Given the description of an element on the screen output the (x, y) to click on. 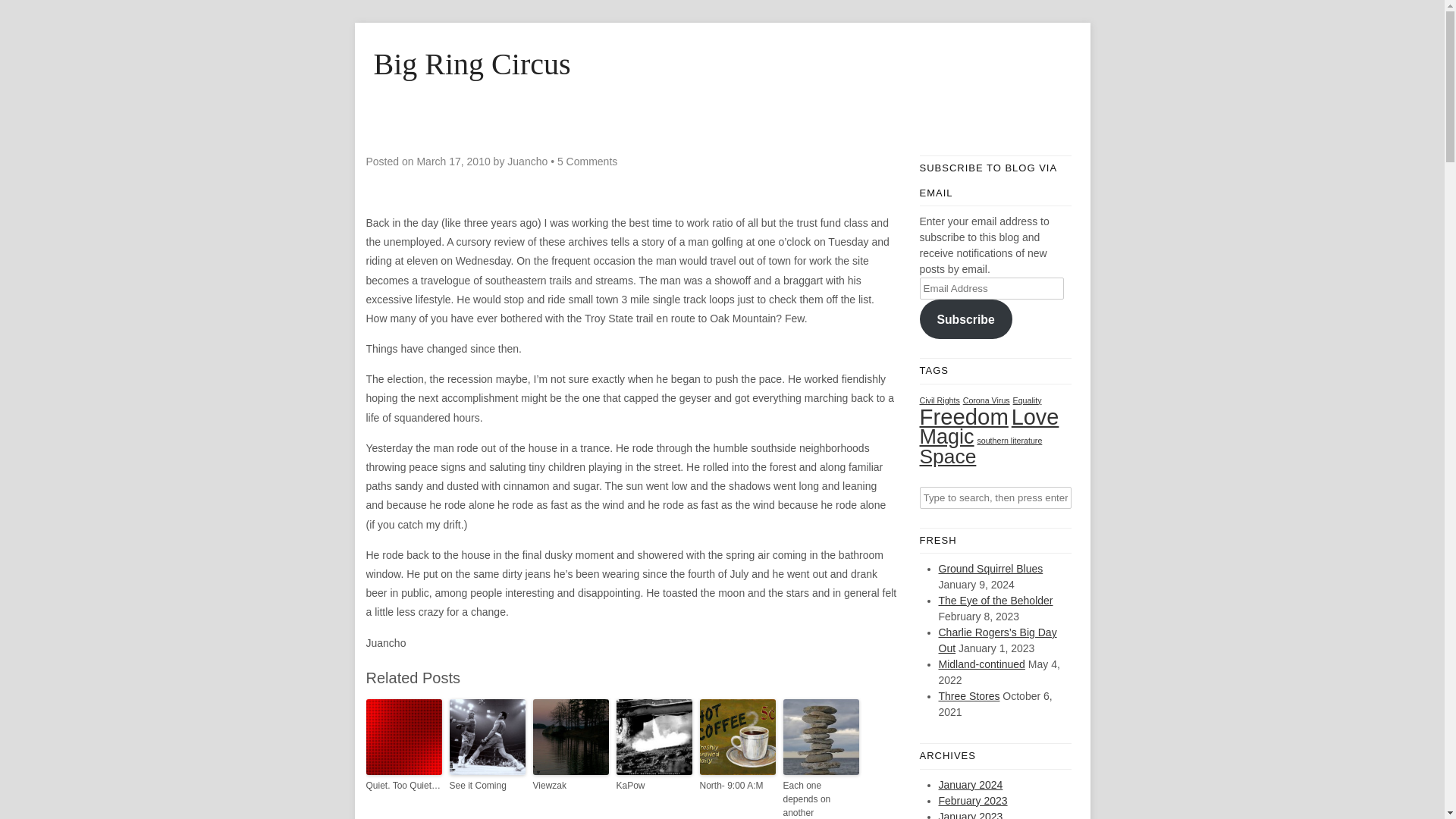
KaPow (653, 785)
Juancho (526, 161)
Civil Rights (938, 399)
Subscribe (964, 319)
Equality (1027, 399)
Each one depends on another (821, 798)
Viewzak (570, 785)
Type to search, then press enter (994, 497)
Search (23, 10)
See it Coming (486, 785)
View all posts by Juancho (526, 161)
Magic (946, 436)
5 Comments (587, 161)
southern literature (1009, 439)
Space (946, 455)
